Given the description of an element on the screen output the (x, y) to click on. 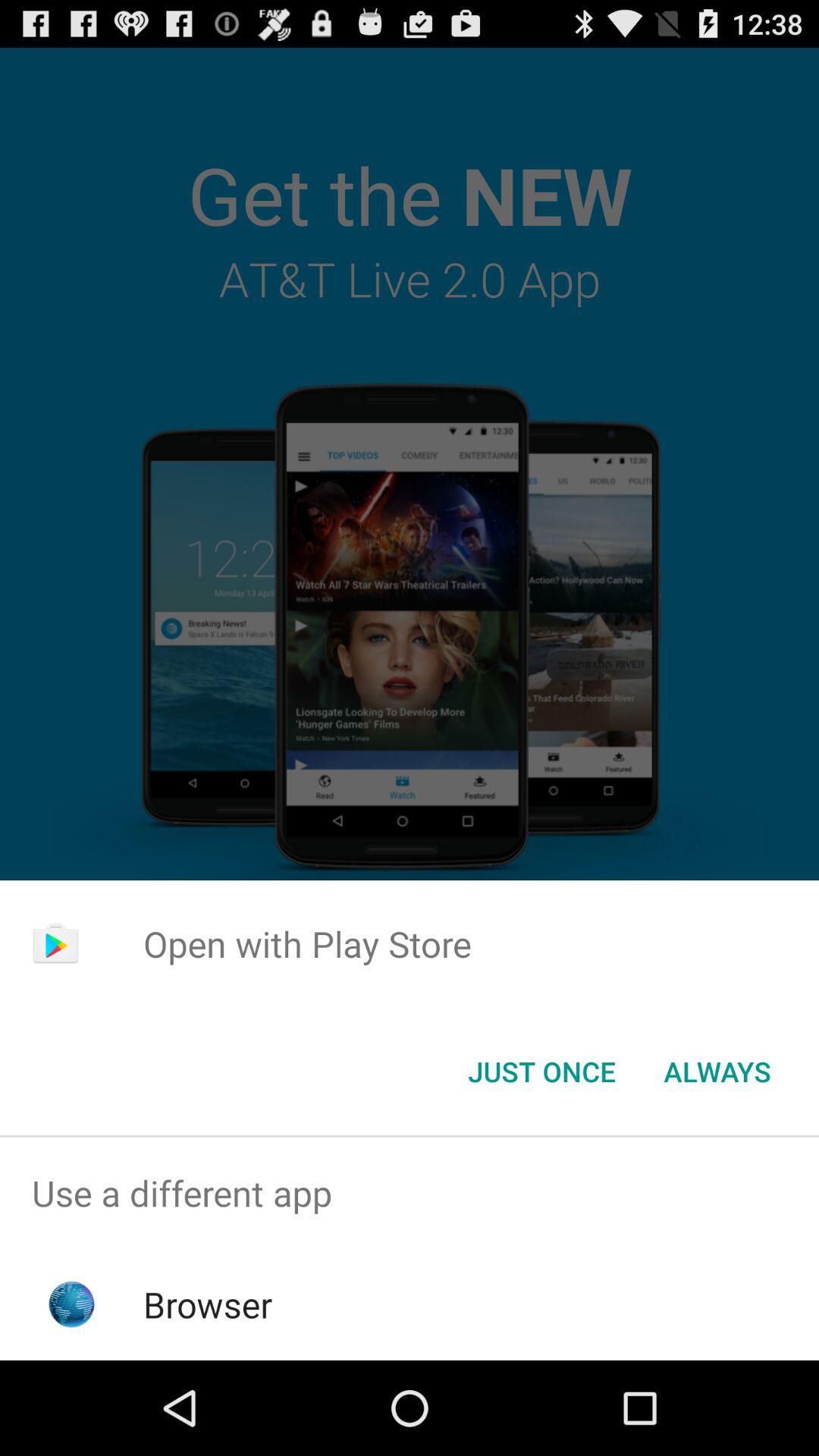
launch browser item (207, 1304)
